Given the description of an element on the screen output the (x, y) to click on. 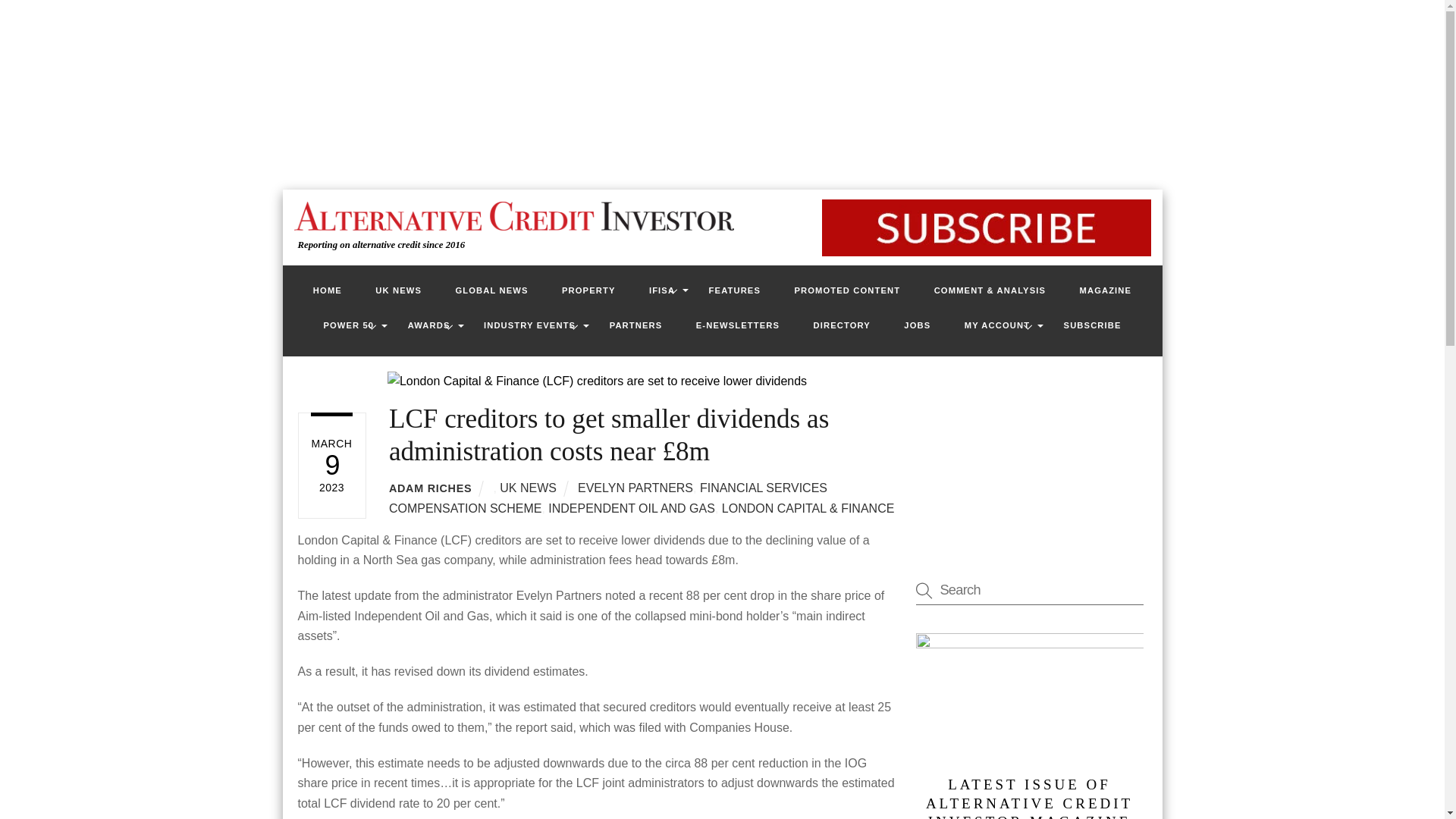
POWER 50 (347, 325)
FEATURES (735, 289)
DIRECTORY (841, 325)
HOME (327, 289)
MAGAZINE (1105, 289)
SUBSCRIBE (1092, 325)
Alternative Credit Investor (509, 215)
alternative-credit-investor-logo (513, 215)
MY ACCOUNT (997, 325)
PARTNERS (636, 325)
